Given the description of an element on the screen output the (x, y) to click on. 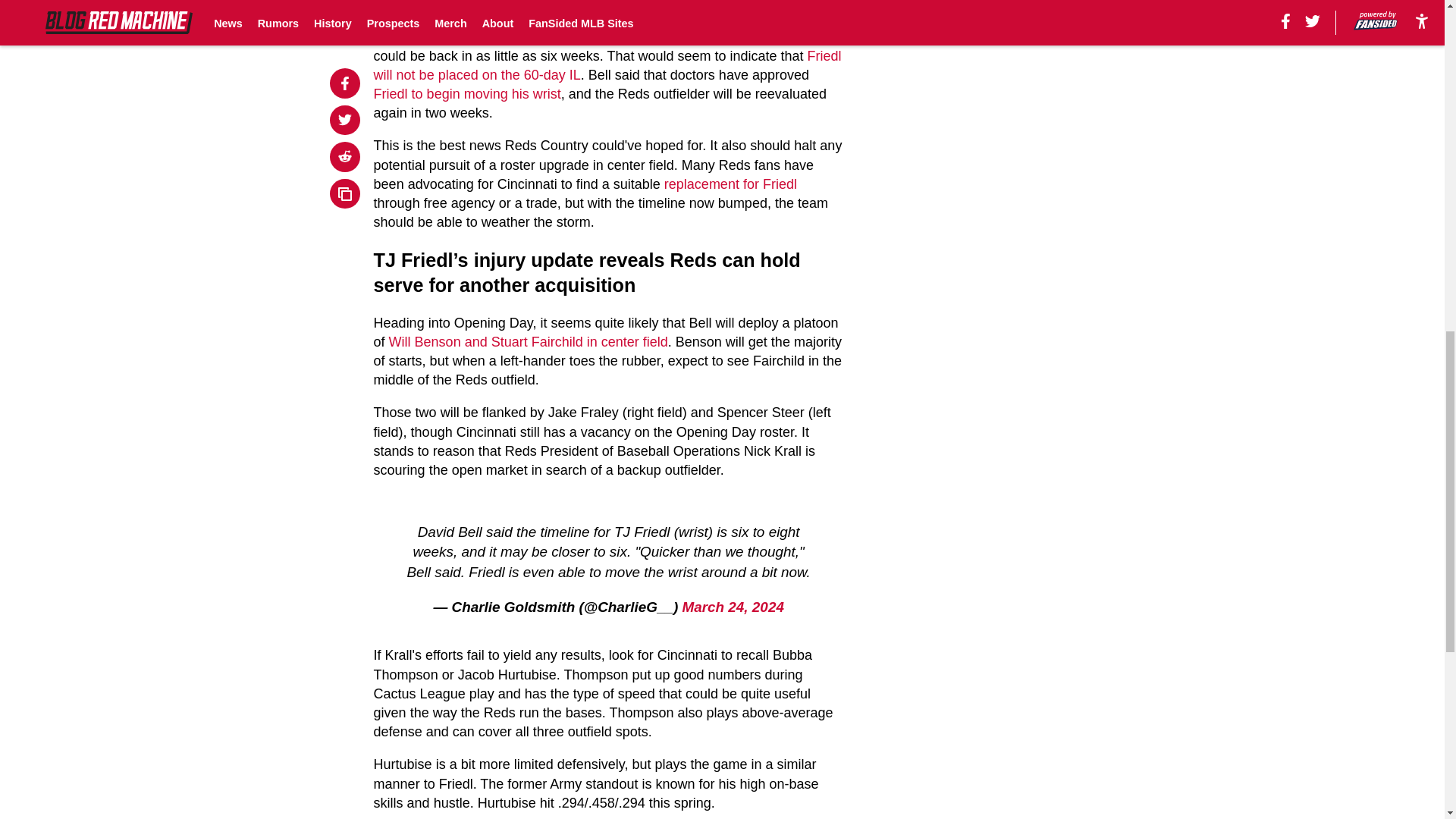
latest update from Reds manager David Bell (554, 36)
replacement for Friedl (729, 183)
Will Benson and Stuart Fairchild in center field (528, 341)
Friedl will not be placed on the 60-day IL (607, 65)
March 24, 2024 (732, 606)
Friedl to begin moving his wrist (467, 93)
